Given the description of an element on the screen output the (x, y) to click on. 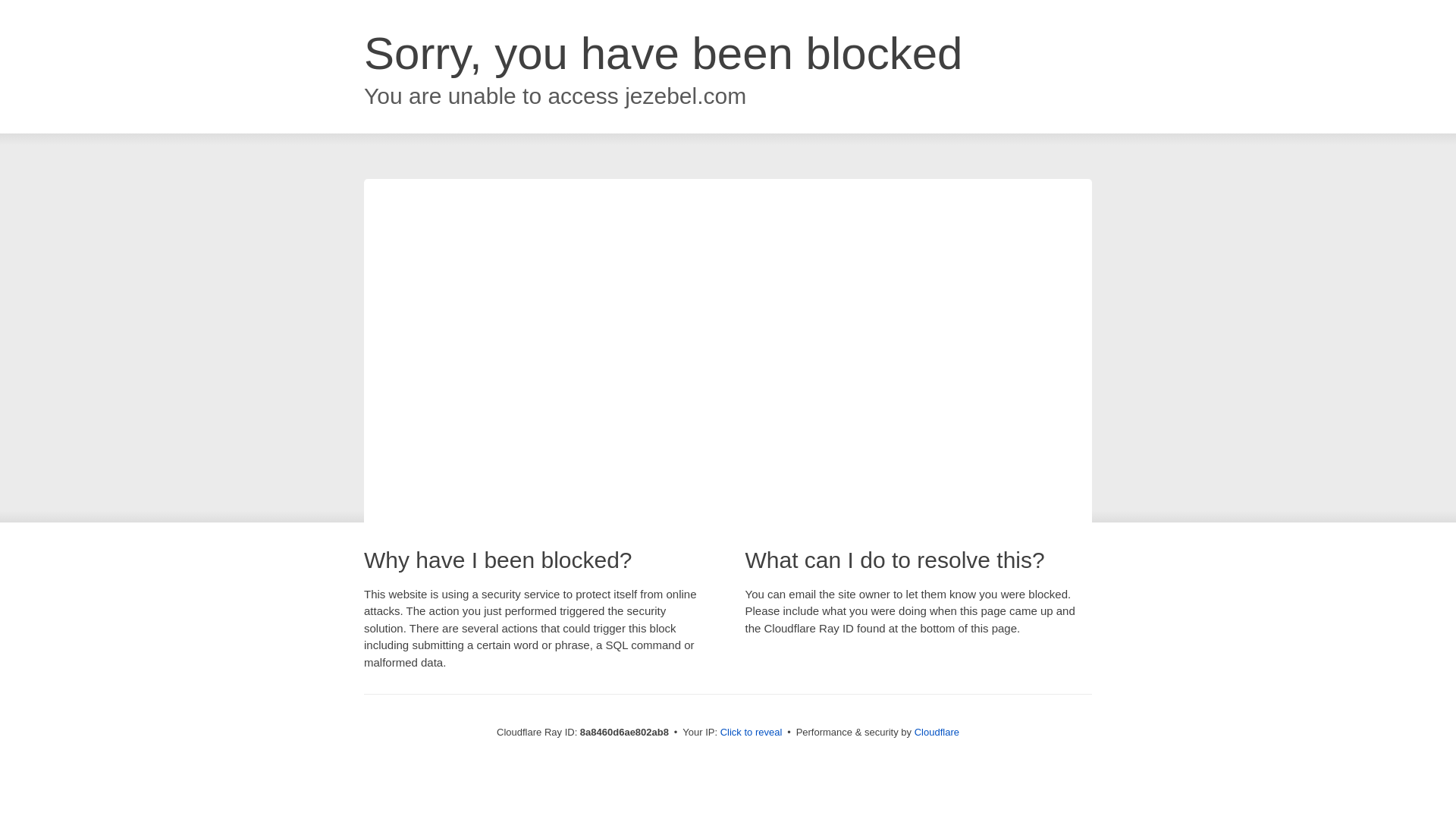
Click to reveal (751, 732)
Cloudflare (936, 731)
